Given the description of an element on the screen output the (x, y) to click on. 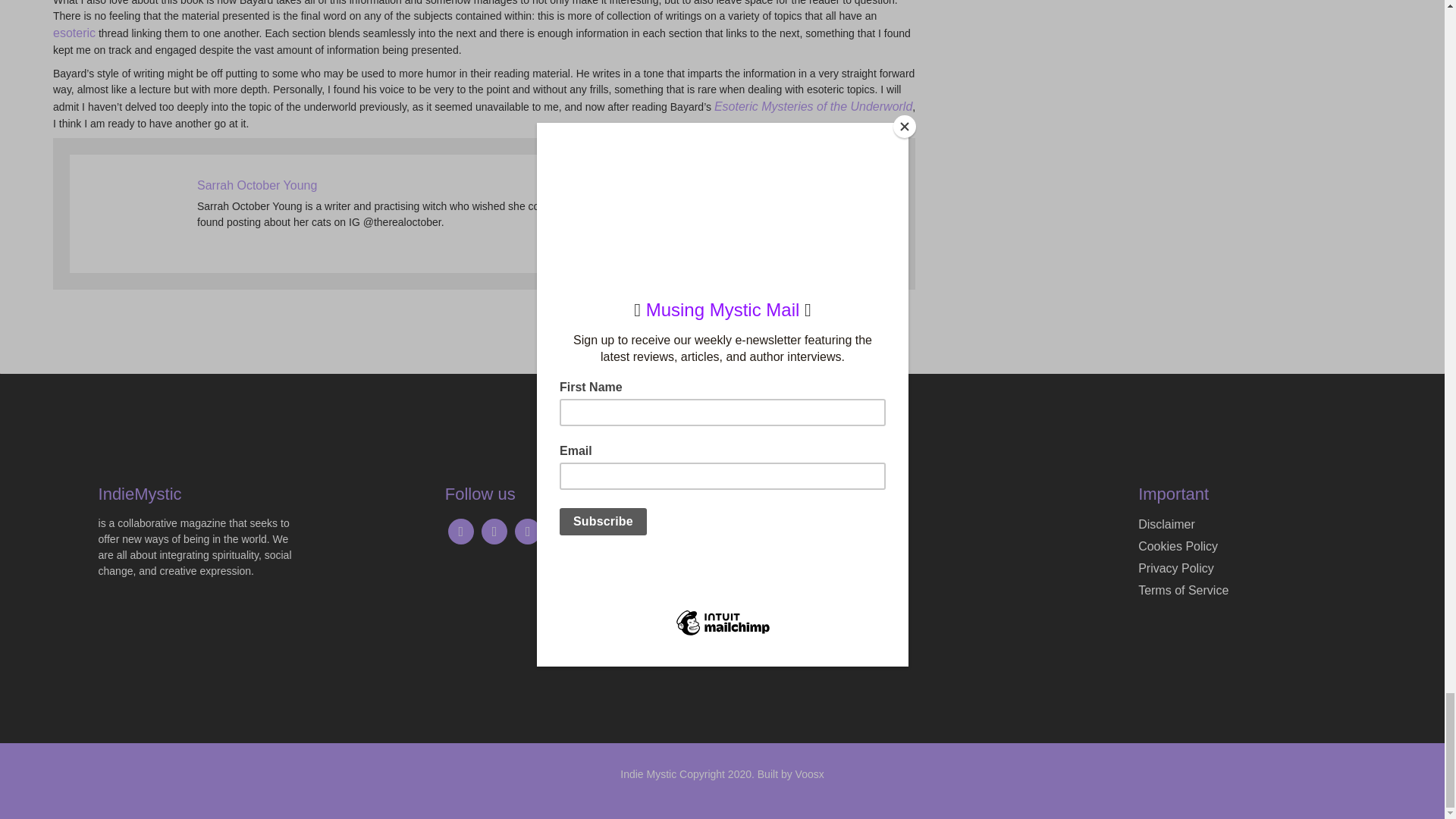
Instagram (461, 530)
Default Label (560, 530)
Twitter (493, 530)
Facebook (527, 530)
